Given the description of an element on the screen output the (x, y) to click on. 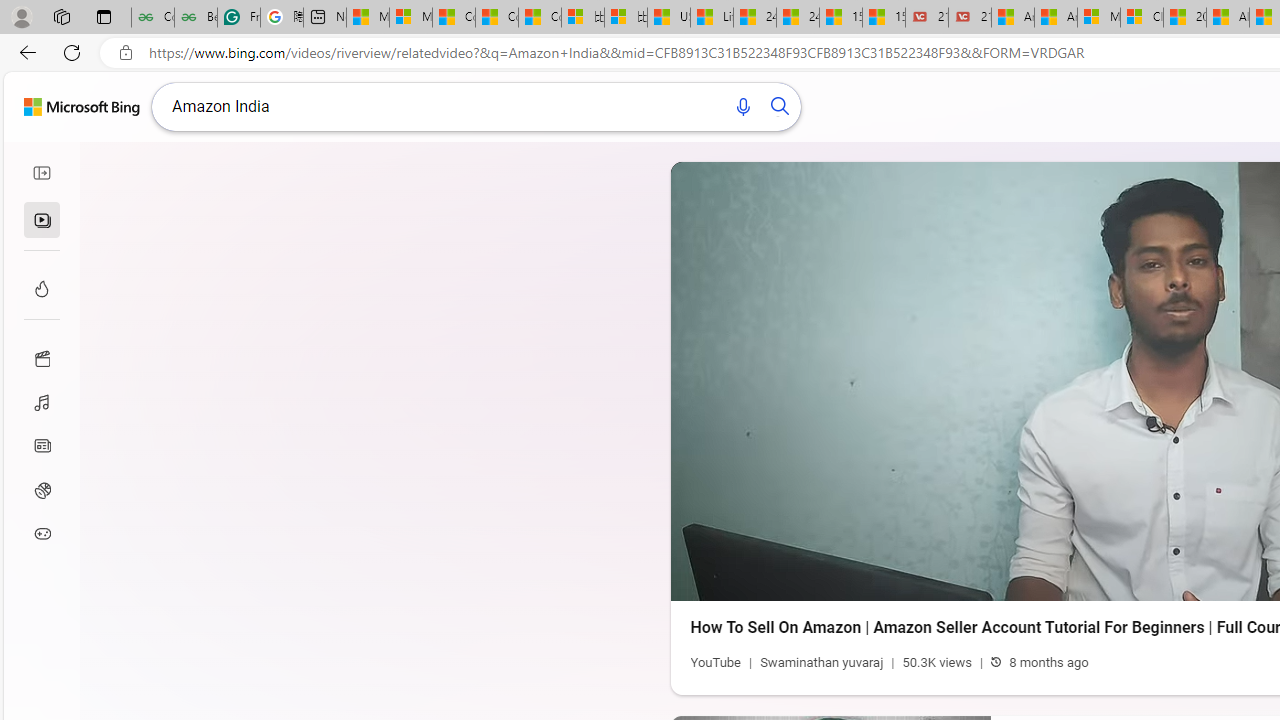
Free AI Writing Assistance for Students | Grammarly (238, 17)
Cloud Computing Services | Microsoft Azure (1142, 17)
toggle button (42, 173)
Class: icon nofocus (42, 173)
YouTube (715, 662)
Sports (42, 490)
USA TODAY - MSN (668, 17)
20 Ways to Boost Your Protein Intake at Every Meal (1184, 17)
Music (42, 401)
Back to Bing search (81, 106)
